Given the description of an element on the screen output the (x, y) to click on. 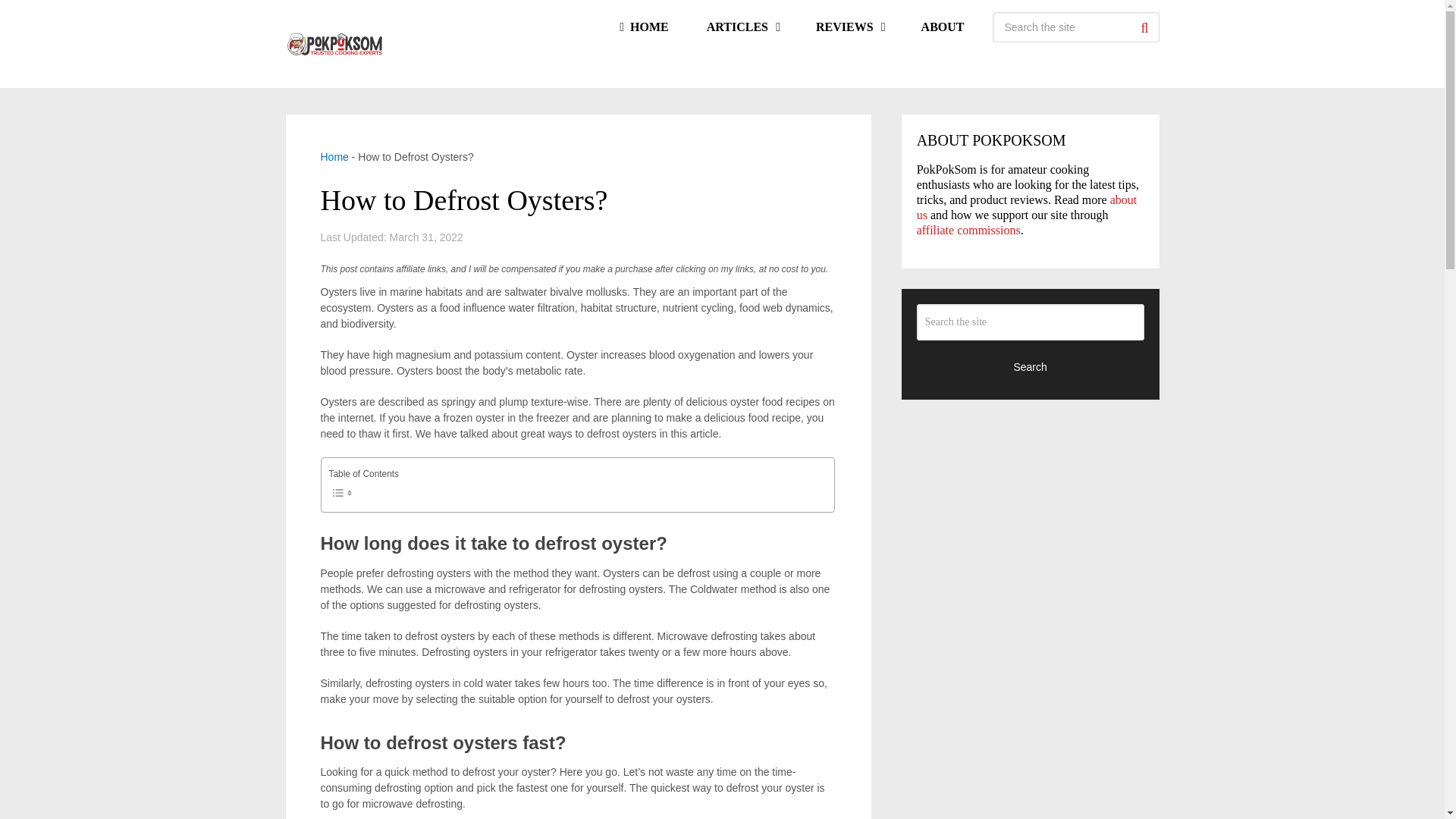
ARTICLES (741, 27)
REVIEWS (849, 27)
HOME (643, 27)
ABOUT (943, 27)
Search (1143, 27)
